Given the description of an element on the screen output the (x, y) to click on. 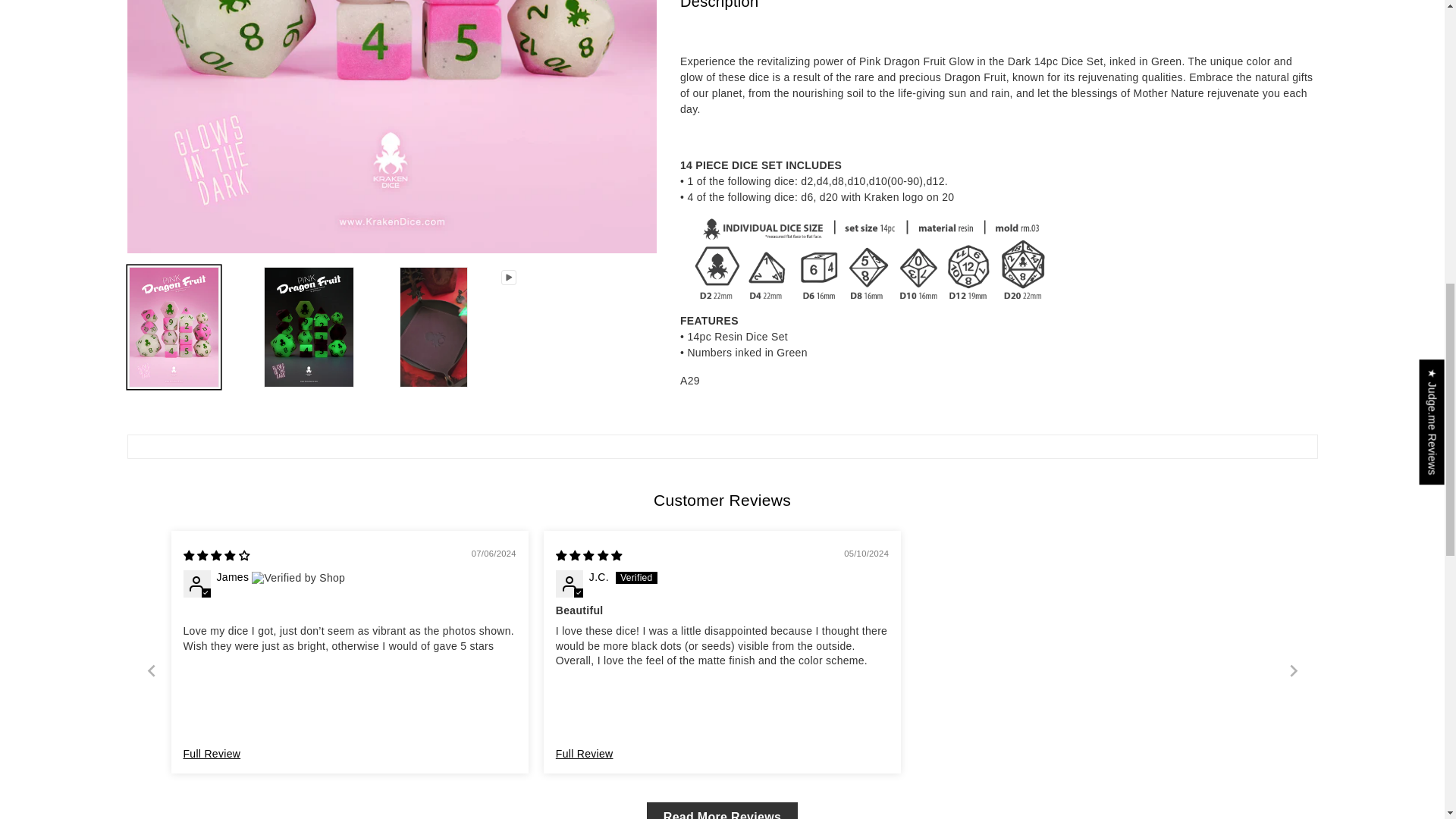
new-dice-size-rm03.png (870, 259)
